Given the description of an element on the screen output the (x, y) to click on. 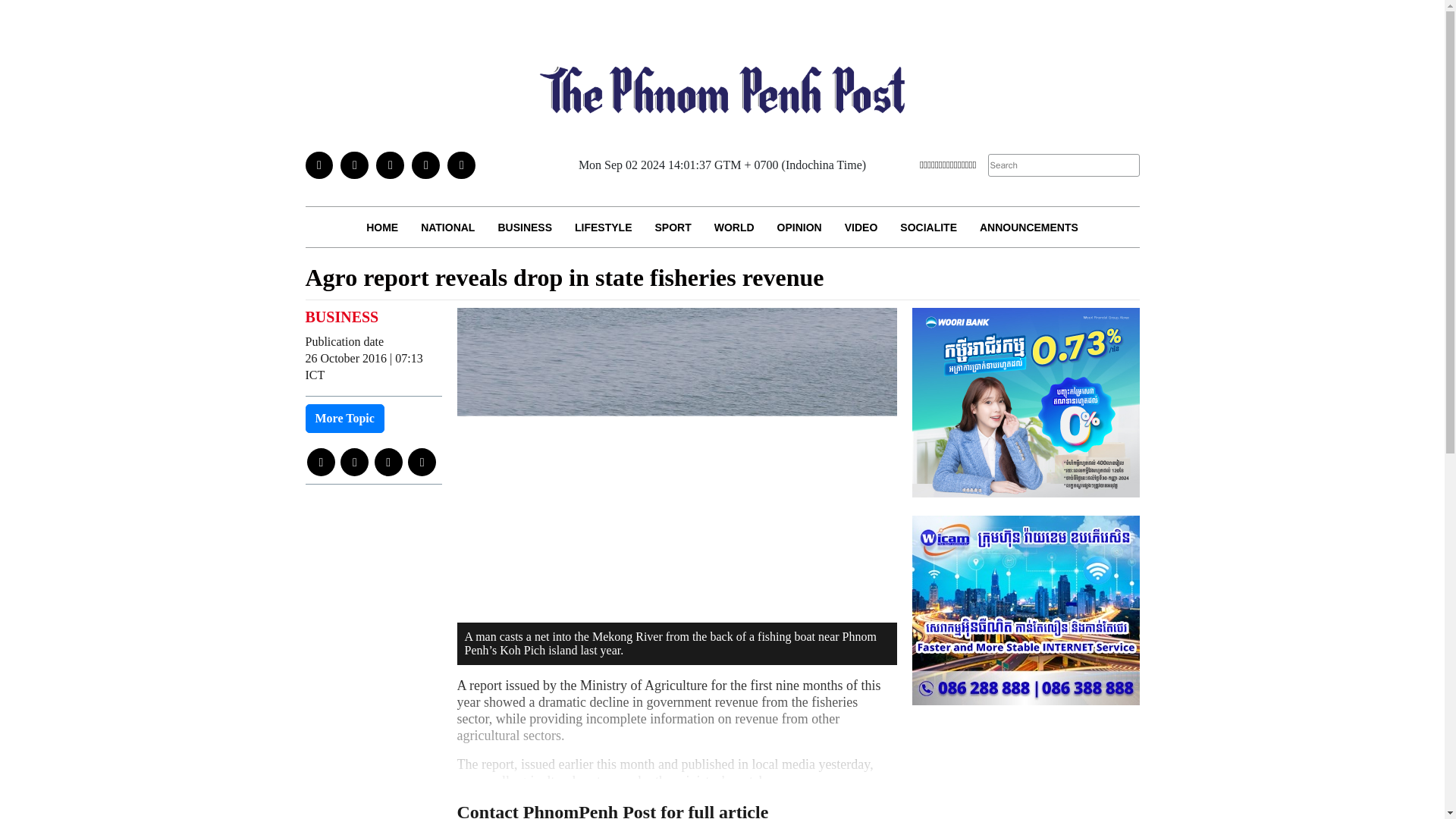
More Topic (344, 418)
ANNOUNCEMENTS (1028, 227)
HOME (382, 227)
NATIONAL (447, 227)
OPINION (798, 227)
LIFESTYLE (603, 227)
VIDEO (860, 227)
SOCIALITE (928, 227)
WORLD (734, 227)
BUSINESS (524, 227)
